Given the description of an element on the screen output the (x, y) to click on. 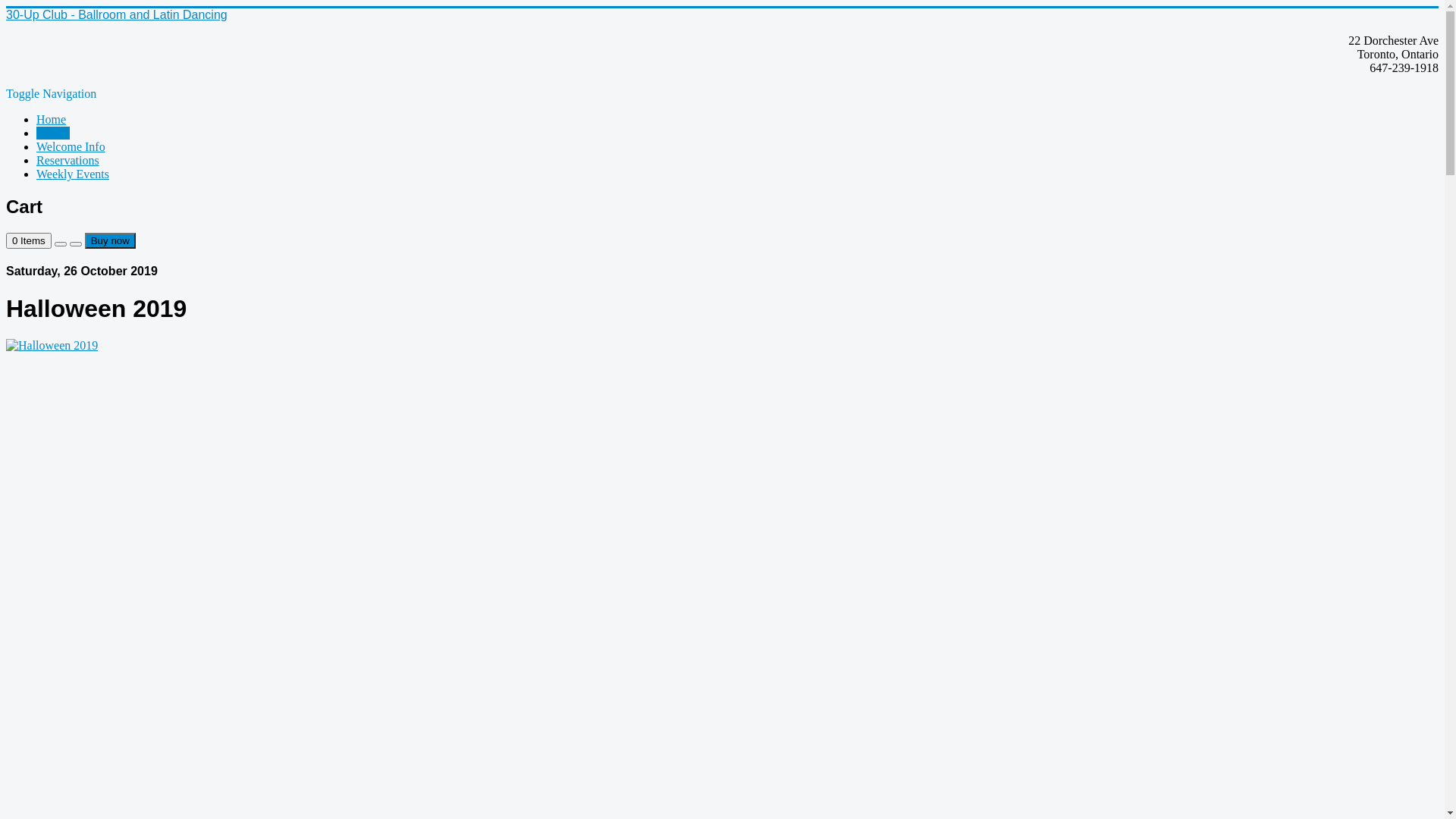
Hide older items Element type: hover (75, 243)
Weekly Events Element type: text (72, 173)
0 Items Element type: text (28, 240)
Reservations Element type: text (67, 159)
Welcome Info Element type: text (70, 146)
30-Up Club - Ballroom and Latin Dancing Element type: text (116, 14)
Photos Element type: text (52, 132)
Buy now Element type: text (109, 240)
Toggle Navigation Element type: text (51, 93)
Home Element type: text (50, 118)
Show all items Element type: hover (60, 243)
